Given the description of an element on the screen output the (x, y) to click on. 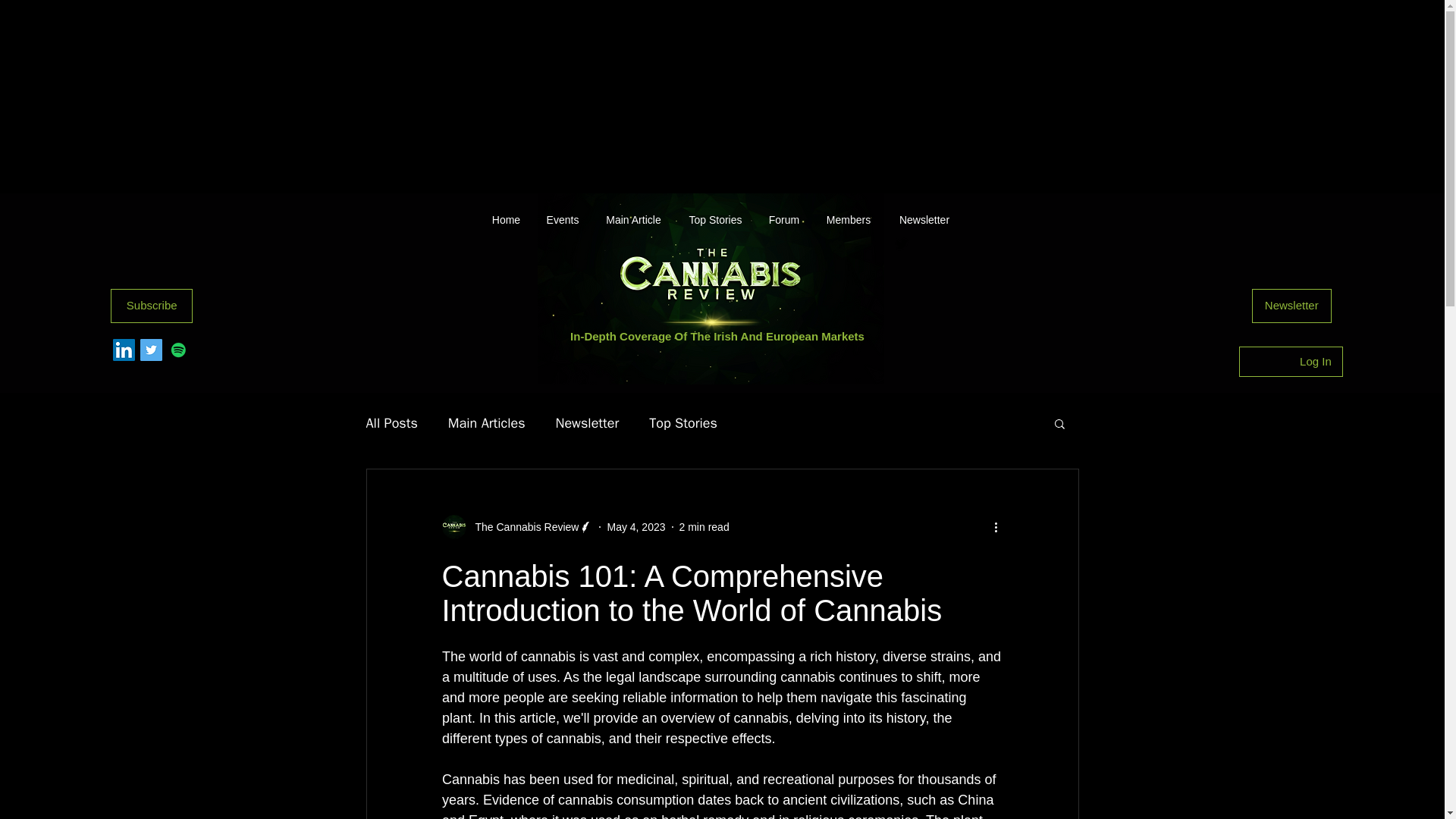
Newsletter (1292, 305)
Main Article (633, 219)
Events (563, 219)
Members (848, 219)
Subscribe (151, 305)
The Cannabis Review  (521, 527)
Top Stories (683, 423)
May 4, 2023 (636, 526)
Newsletter (588, 423)
The Cannabis Review (516, 526)
